Given the description of an element on the screen output the (x, y) to click on. 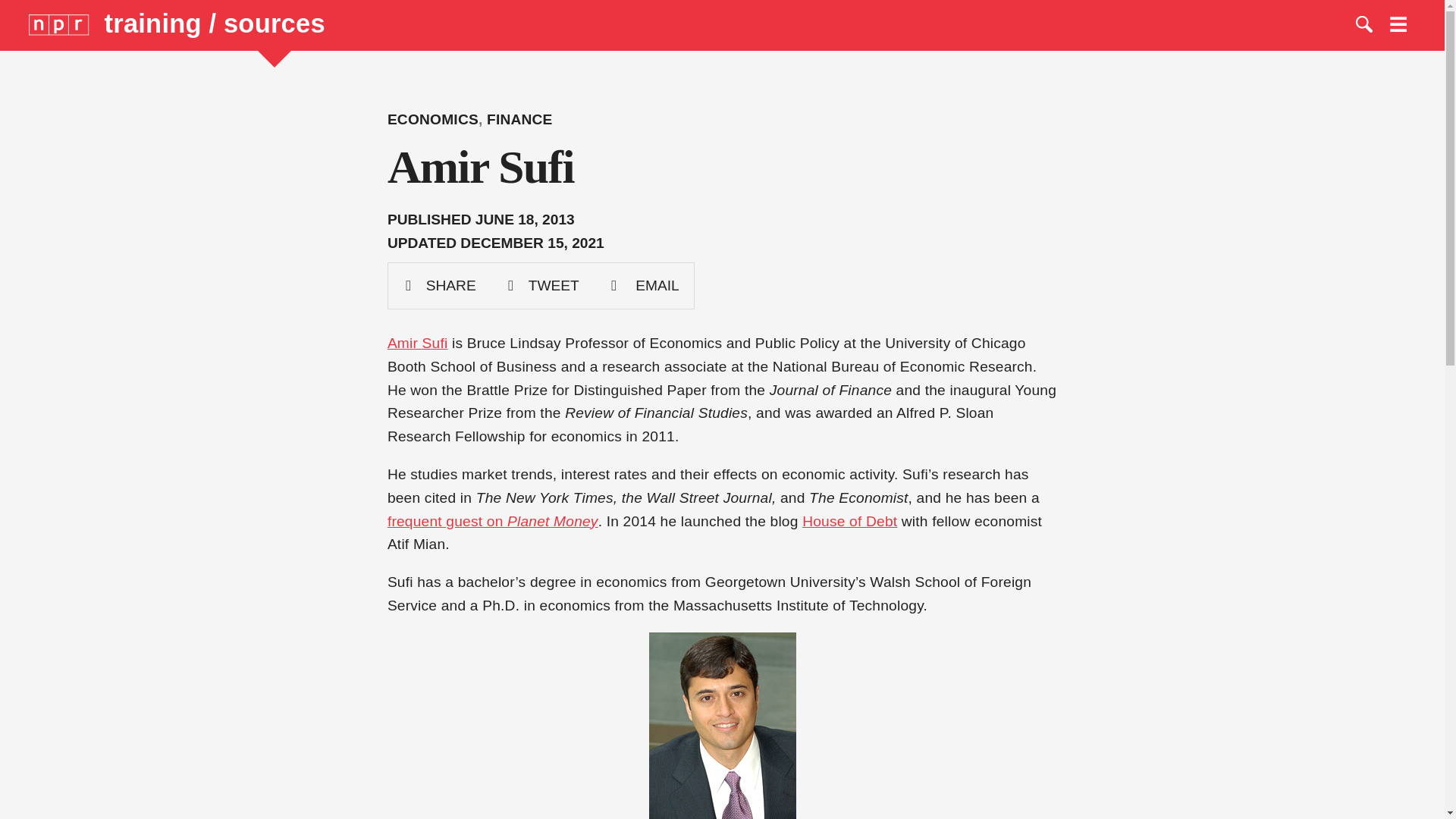
frequent guest on Planet Money (492, 520)
sources (274, 23)
House of Debt (849, 520)
ECONOMICS (433, 119)
training (156, 23)
SHARE (439, 285)
FINANCE (519, 119)
TWEET (542, 285)
Amir Sufi (417, 342)
EMAIL (644, 285)
